Given the description of an element on the screen output the (x, y) to click on. 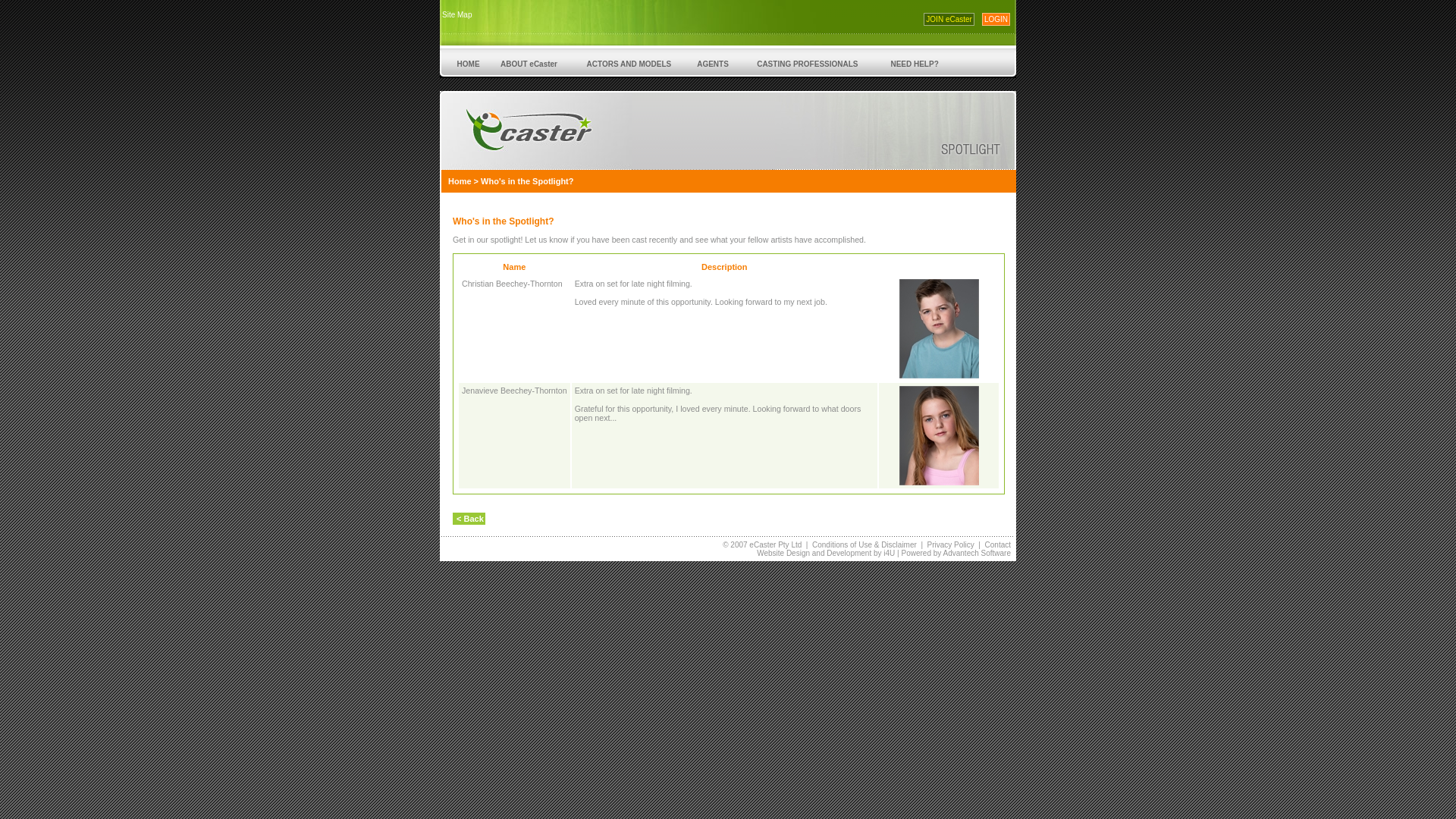
Who's in the Spotlight? Element type: text (526, 180)
 HOME  Element type: text (467, 63)
LOGIN Element type: text (996, 18)
Conditions of Use & Disclaimer Element type: text (864, 544)
Jenavieve Beechey-Thornton Element type: text (514, 390)
Home Element type: text (459, 180)
 ACTORS AND MODELS  Element type: text (629, 63)
by i4U Element type: text (882, 553)
Name Element type: text (513, 266)
Powered by Advantech Software Element type: text (955, 553)
Description Element type: text (724, 266)
Christian Beechey-Thornton Element type: text (511, 283)
Contact Element type: text (997, 544)
 ABOUT eCaster  Element type: text (528, 63)
Website Design and Element type: text (791, 553)
 CASTING PROFESSIONALS  Element type: text (806, 63)
JOIN eCaster Element type: text (948, 18)
Privacy Policy Element type: text (950, 544)
 AGENTS  Element type: text (712, 63)
 < Back Element type: text (468, 518)
Site Map Element type: text (456, 14)
 NEED HELP?  Element type: text (914, 63)
Development Element type: text (848, 553)
